Given the description of an element on the screen output the (x, y) to click on. 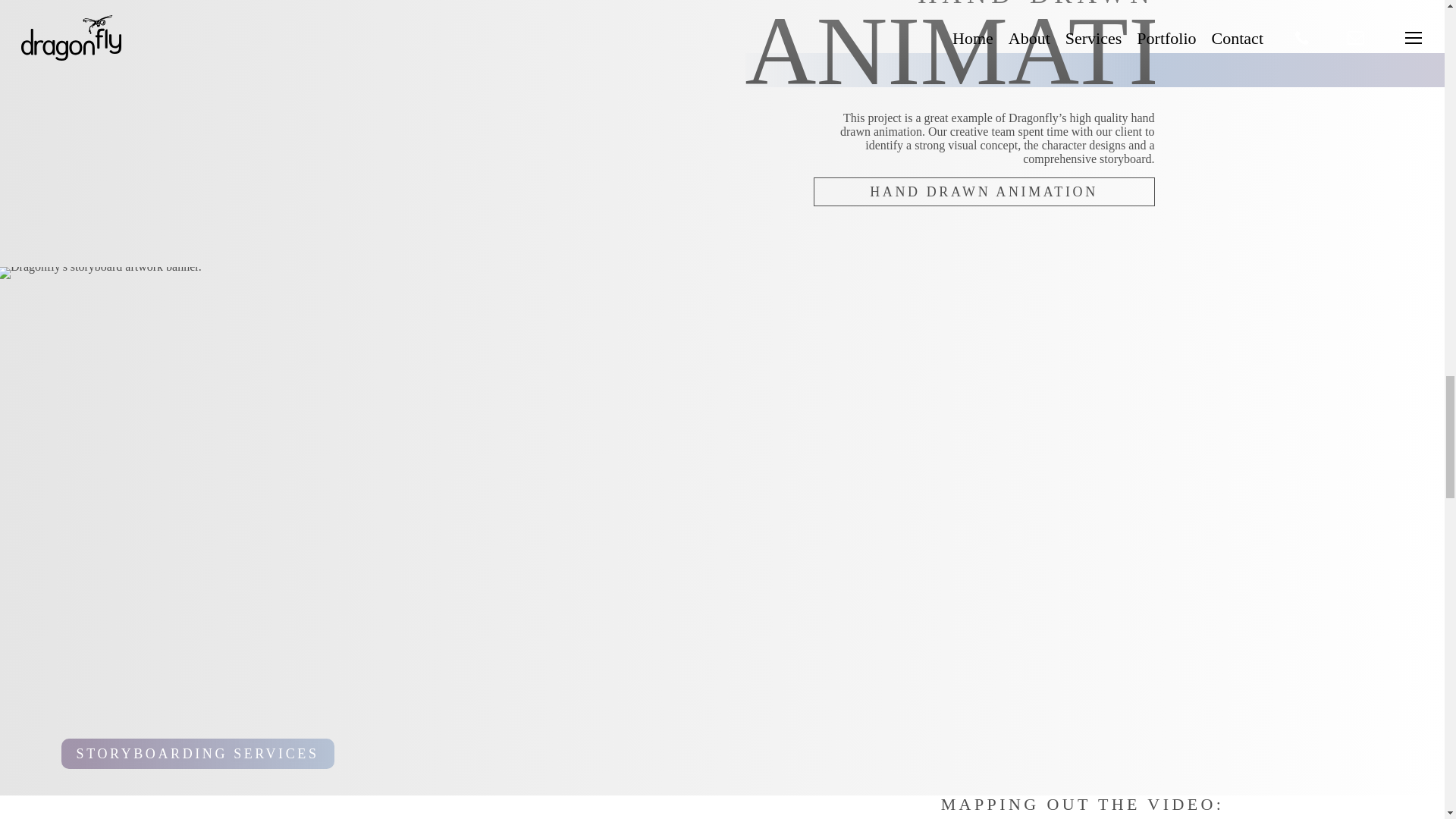
HAND DRAWN ANIMATION (983, 191)
STORYBOARDING SERVICES (197, 753)
Sketched Graphic From Aat'S Explainer Video (566, 39)
